Given the description of an element on the screen output the (x, y) to click on. 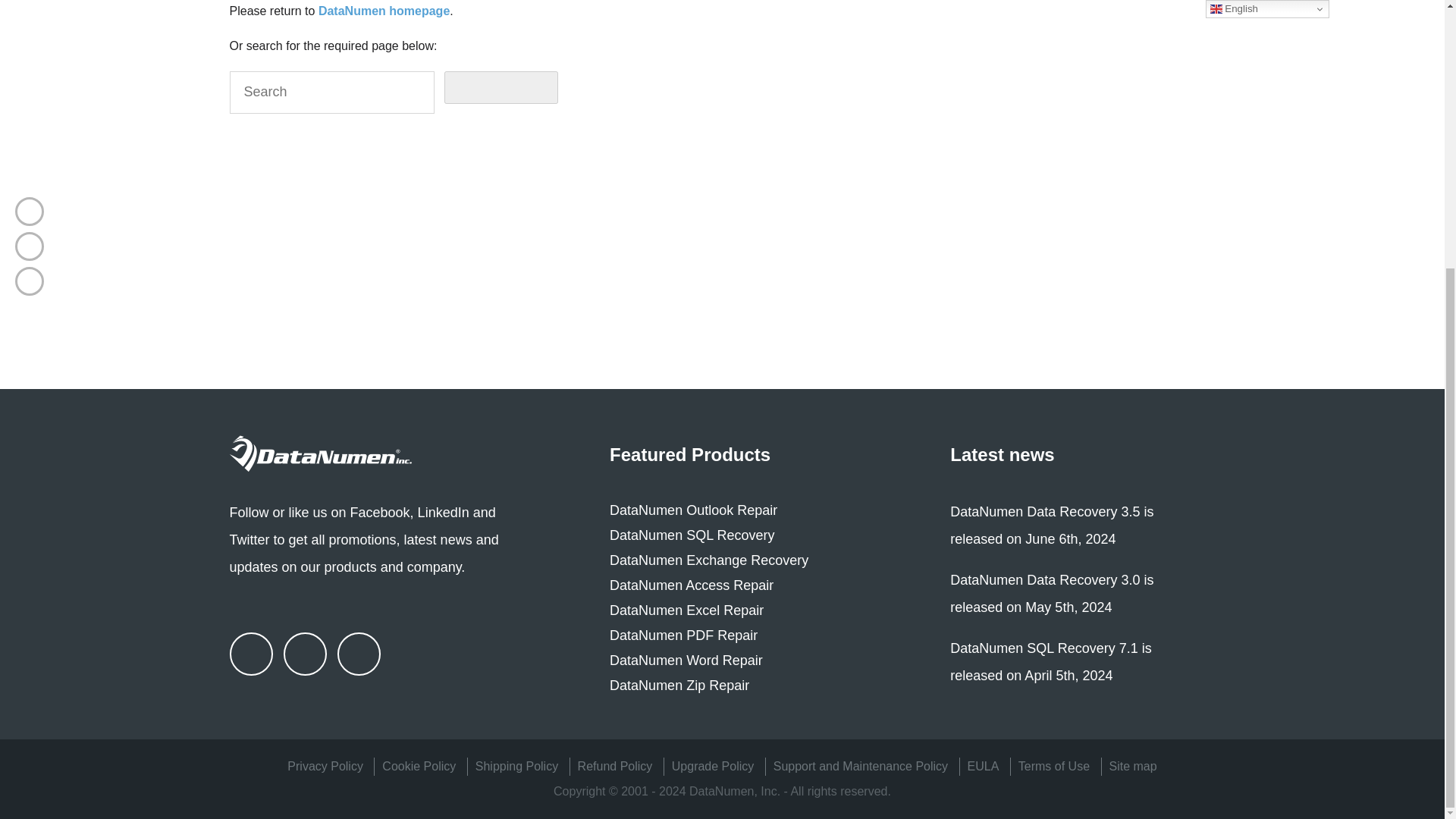
Search for: (330, 92)
